Given the description of an element on the screen output the (x, y) to click on. 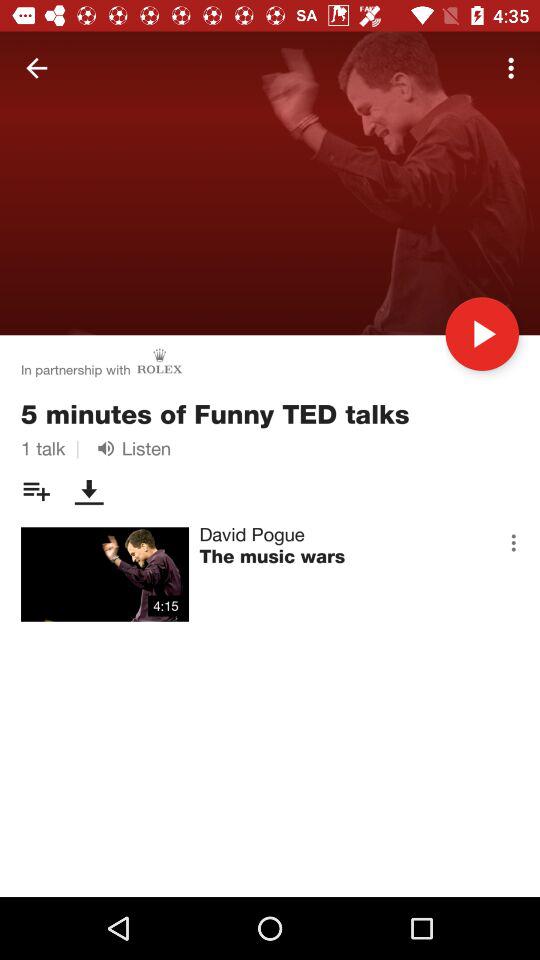
turn on icon above in partnership with (36, 68)
